Given the description of an element on the screen output the (x, y) to click on. 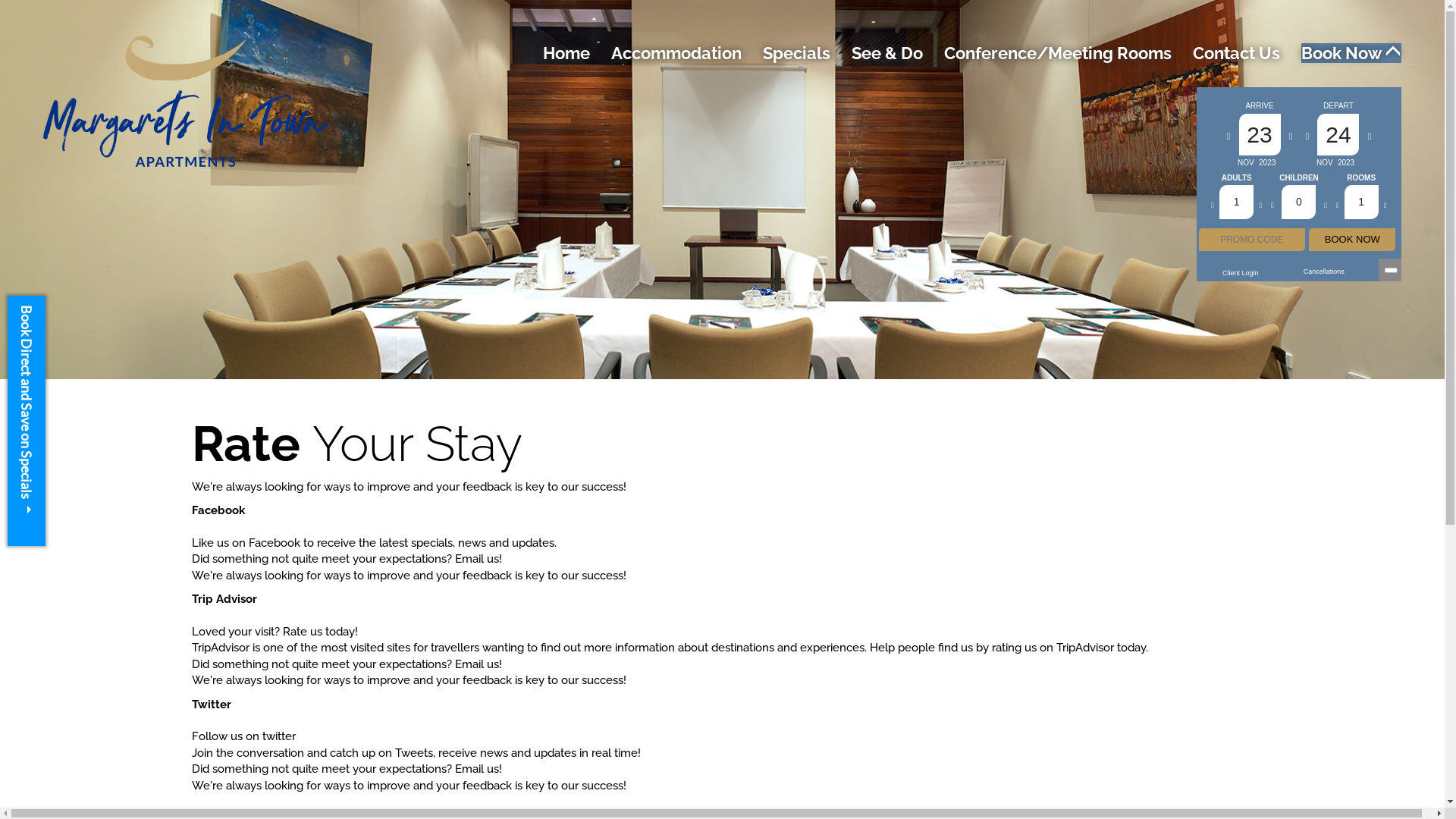
Contact Us Element type: text (1236, 52)
Book Now Element type: text (1351, 52)
Specials Element type: text (796, 52)
BOOK NOW Element type: text (1351, 239)
Home Element type: text (565, 52)
Cancellations Element type: text (1323, 271)
Accommodation Element type: text (676, 52)
See & Do Element type: text (886, 52)
Client Login Element type: text (1240, 272)
Conference/Meeting Rooms Element type: text (1057, 52)
